Given the description of an element on the screen output the (x, y) to click on. 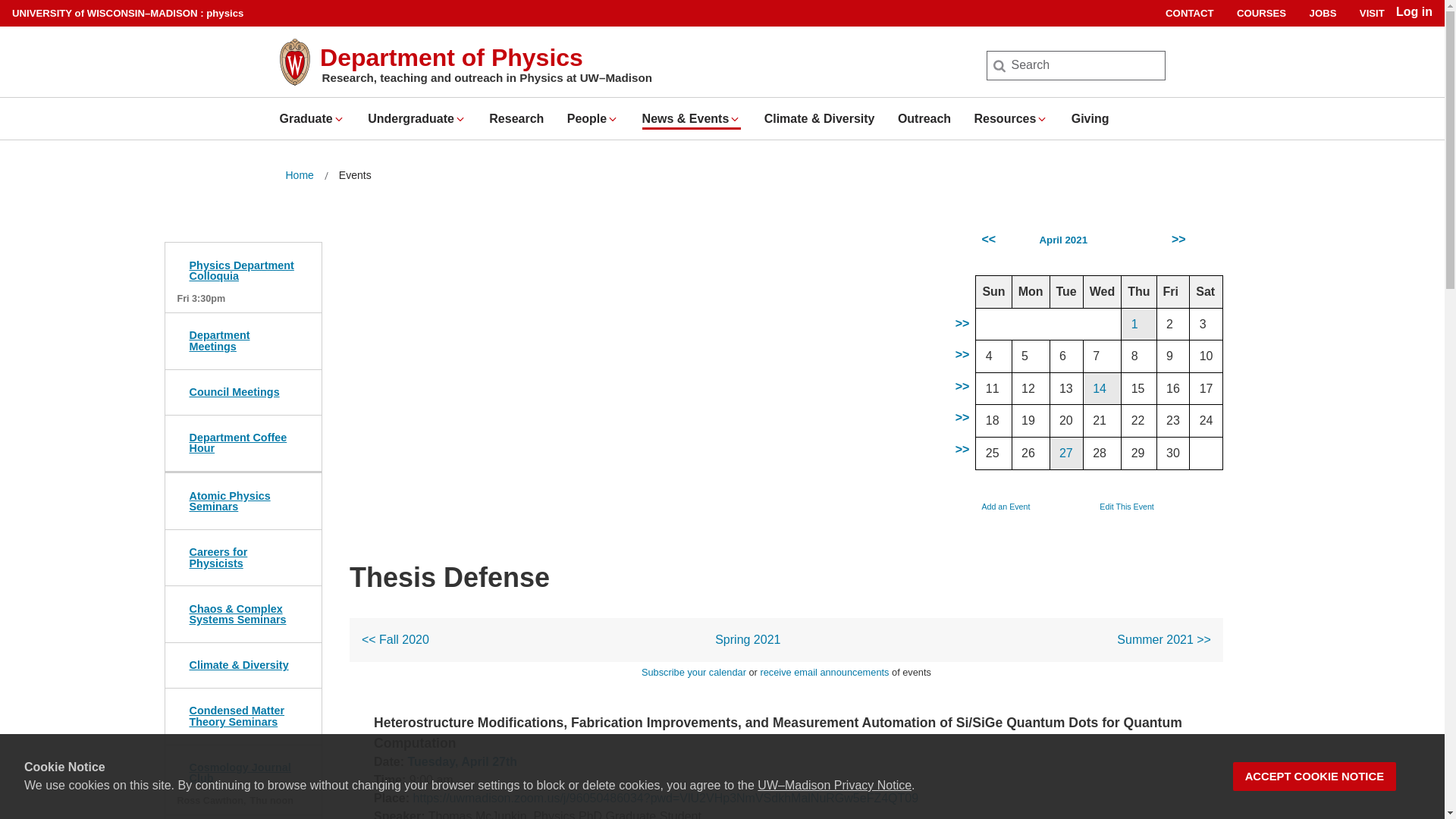
physics (224, 12)
Expand (339, 119)
Expand (1041, 119)
Expand (735, 119)
Graduate Expand (311, 118)
Skip to main content (3, 3)
Department of Physics (451, 57)
Search (37, 16)
Research (516, 118)
Expand (459, 119)
People Expand (592, 118)
Expand (612, 119)
Home (299, 175)
Events (355, 175)
ACCEPT COOKIE NOTICE (1314, 776)
